Given the description of an element on the screen output the (x, y) to click on. 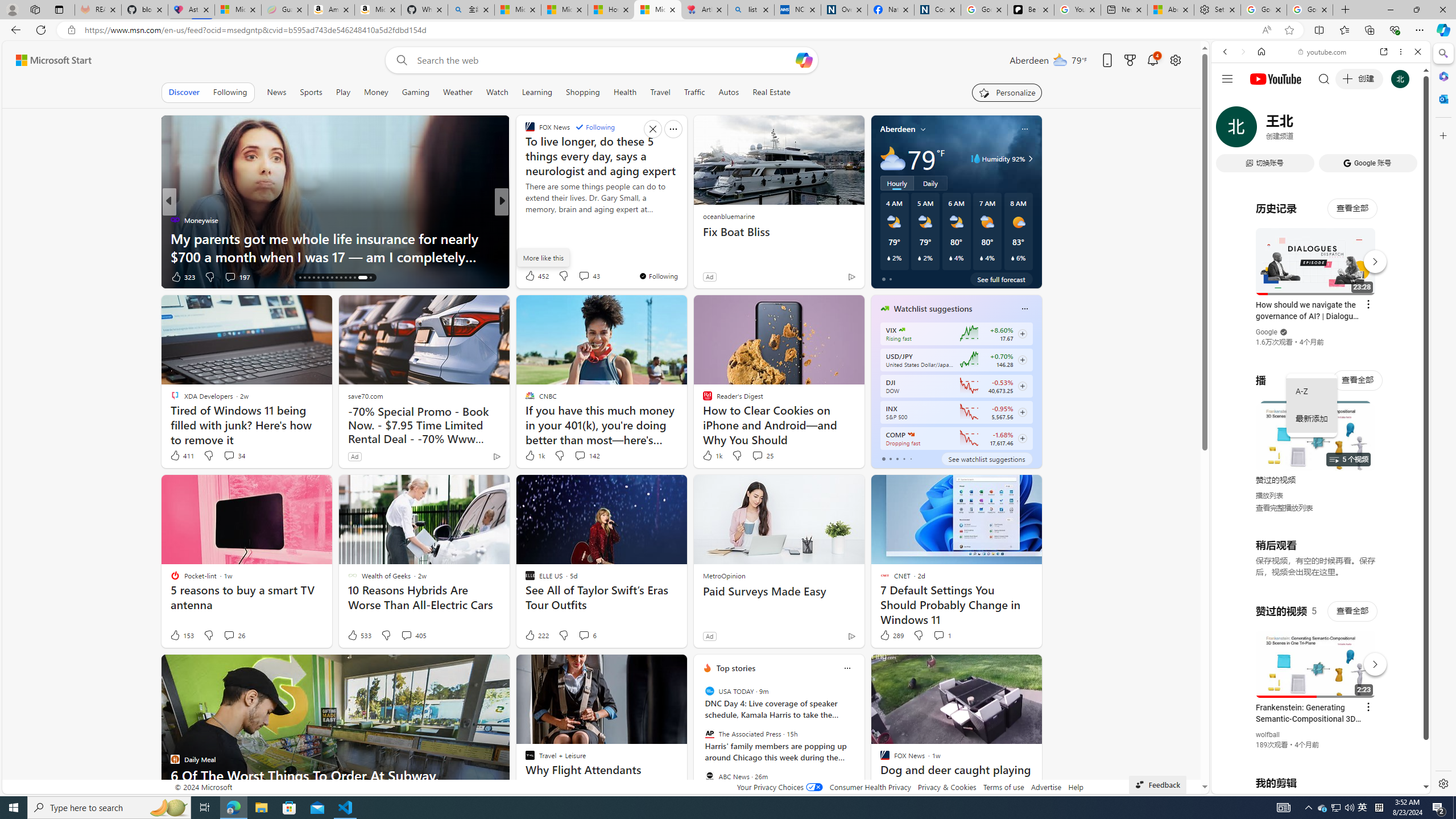
Google (1320, 281)
Aberdeen (897, 128)
View comments 142 Comment (586, 455)
AutomationID: tab-26 (345, 277)
youtube.com (1322, 51)
See watchlist suggestions (986, 459)
Search Filter, IMAGES (1262, 129)
